Given the description of an element on the screen output the (x, y) to click on. 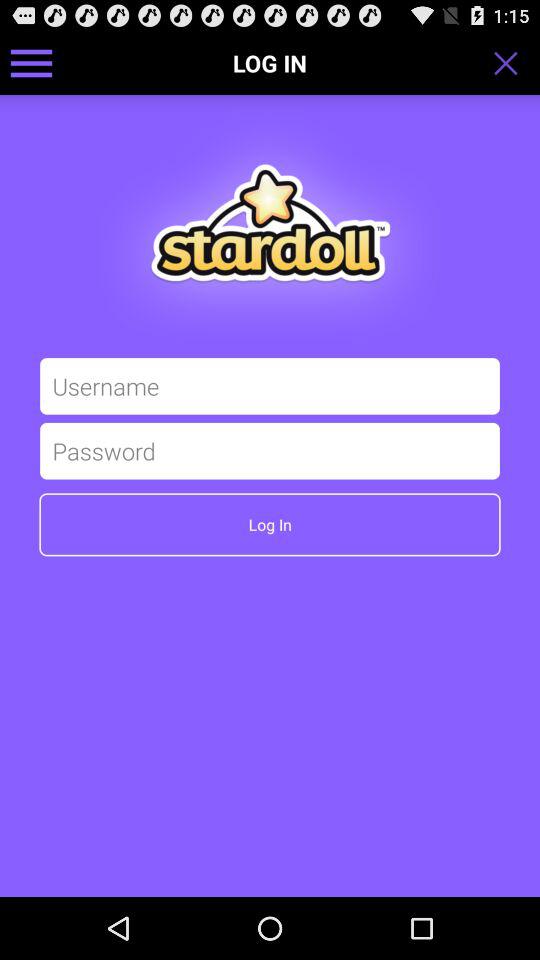
type in username (269, 386)
